Given the description of an element on the screen output the (x, y) to click on. 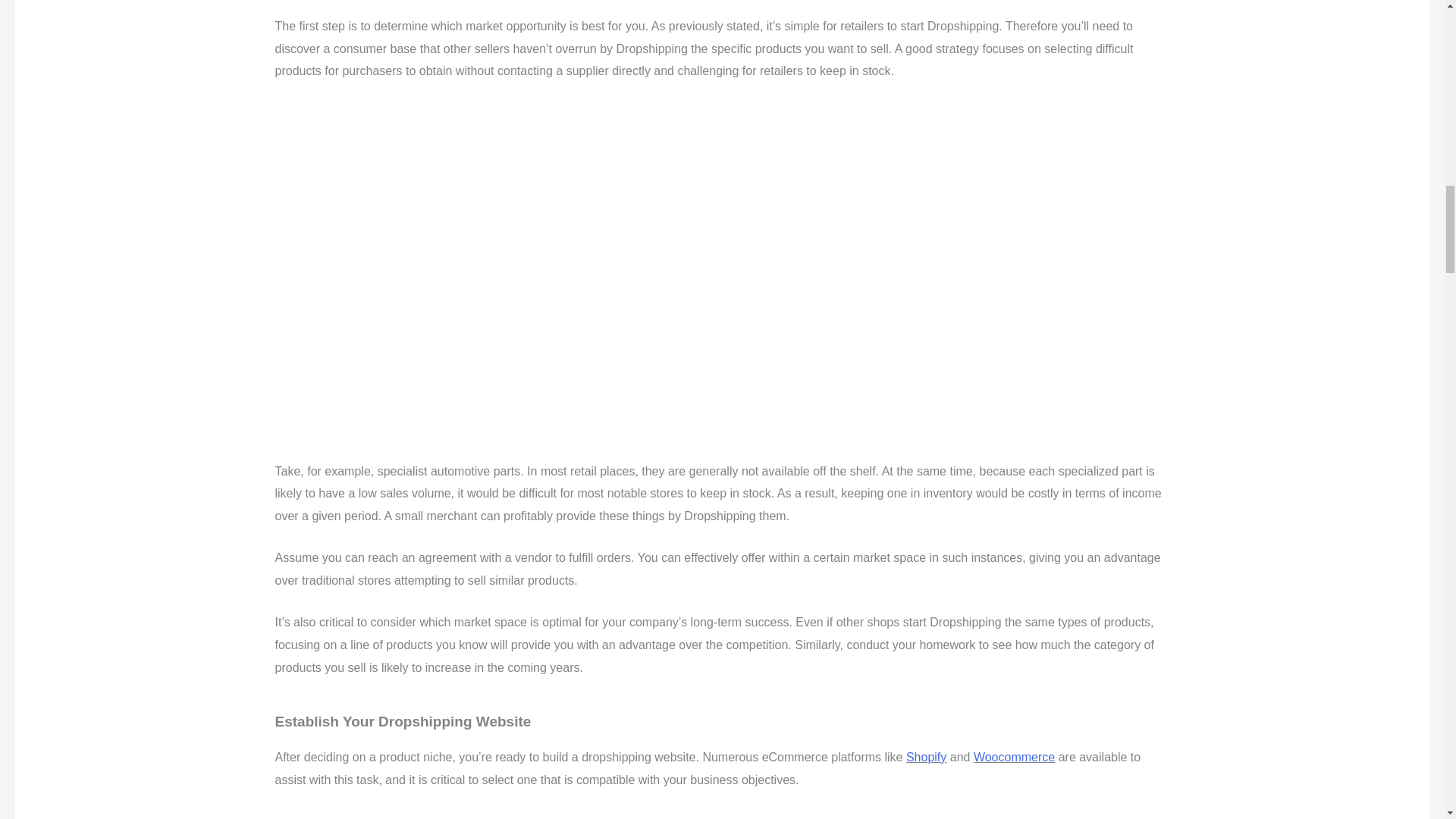
Woocommerce (1014, 757)
Shopify (925, 757)
